Given the description of an element on the screen output the (x, y) to click on. 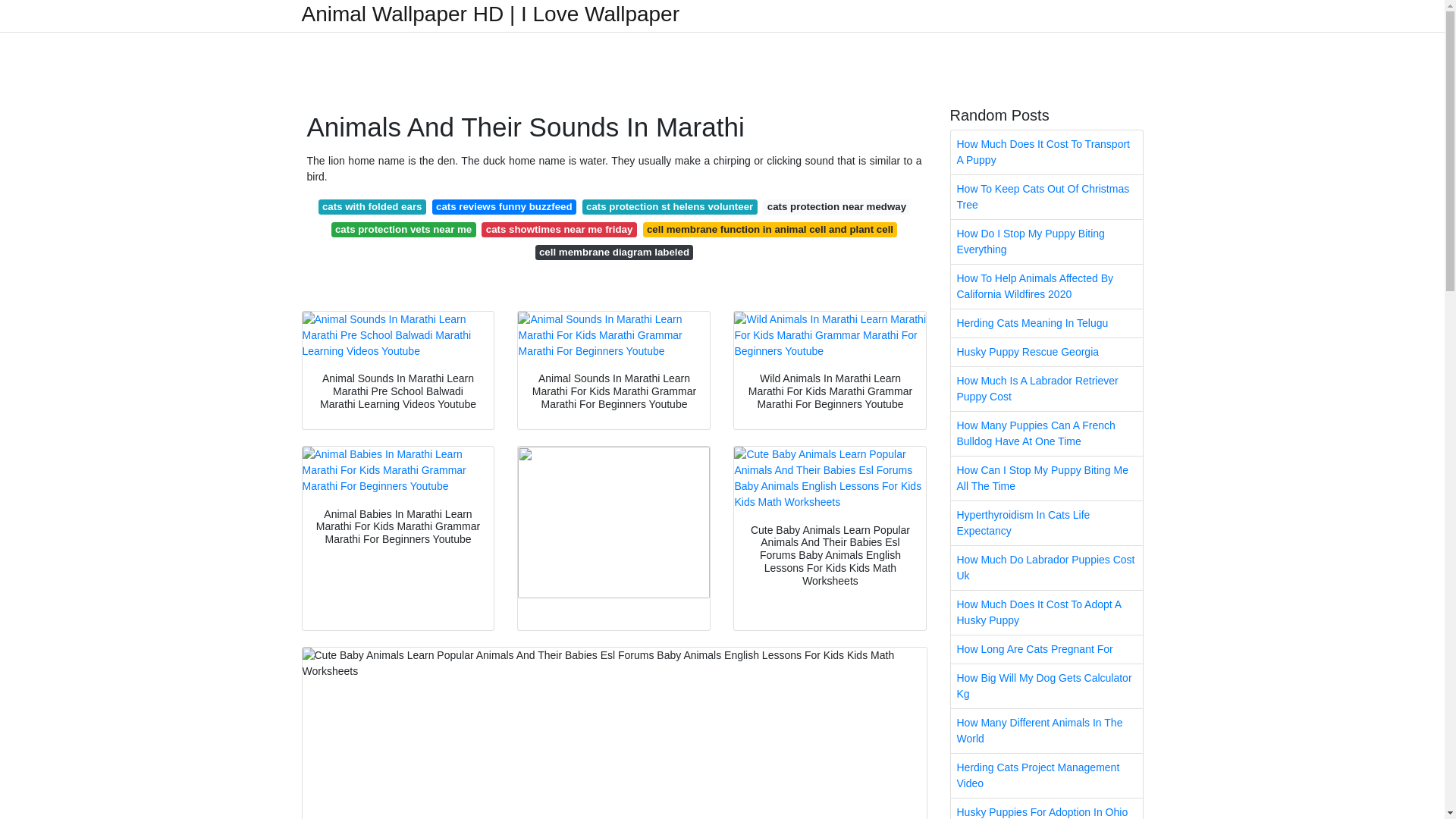
How Much Is A Labrador Retriever Puppy Cost (1046, 388)
cats reviews funny buzzfeed (504, 206)
How Do I Stop My Puppy Biting Everything (1046, 241)
How Can I Stop My Puppy Biting Me All The Time (1046, 478)
cats protection st helens volunteer (669, 206)
How Much Does It Cost To Transport A Puppy (1046, 152)
Husky Puppy Rescue Georgia (1046, 352)
How To Help Animals Affected By California Wildfires 2020 (1046, 286)
Hyperthyroidism In Cats Life Expectancy (1046, 523)
cats protection near medway (836, 206)
